Given the description of an element on the screen output the (x, y) to click on. 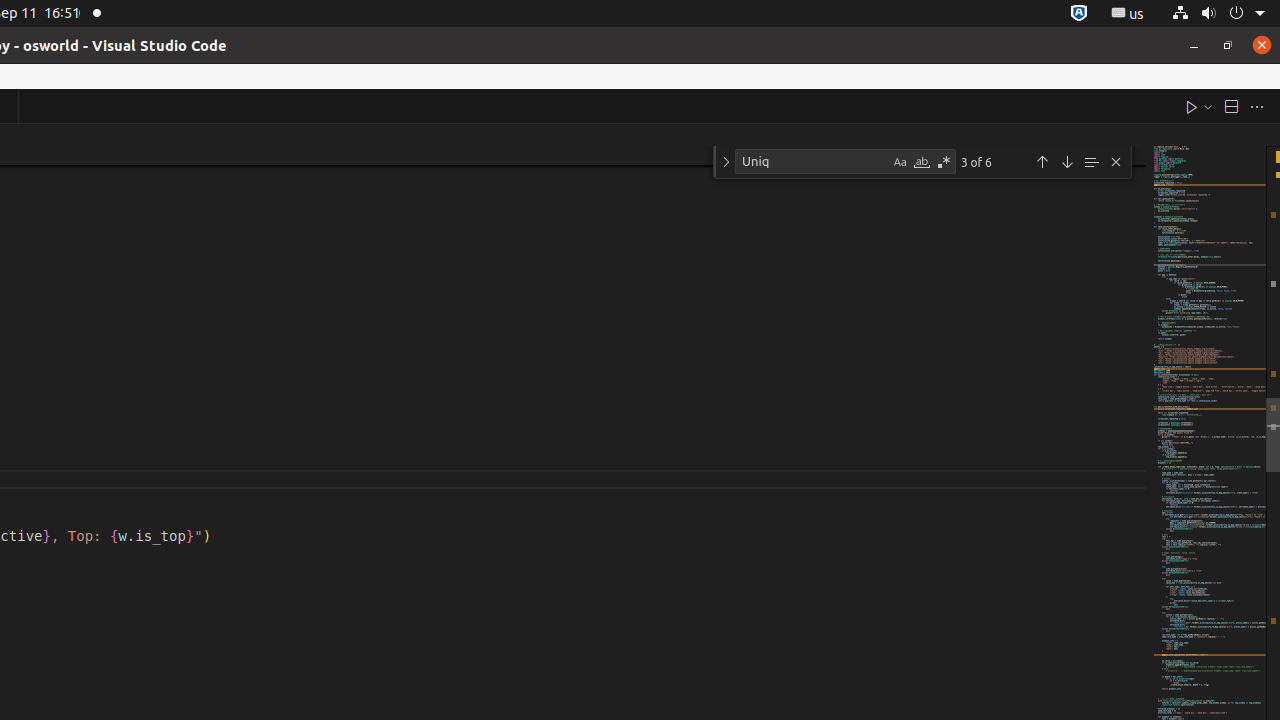
Match Case (Alt+C) Element type: check-box (900, 162)
Run or Debug... Element type: push-button (1208, 106)
Toggle Replace Element type: push-button (726, 162)
Split Editor Right (Ctrl+\) [Alt] Split Editor Down Element type: push-button (1231, 106)
Match Whole Word (Alt+W) Element type: check-box (922, 162)
